Given the description of an element on the screen output the (x, y) to click on. 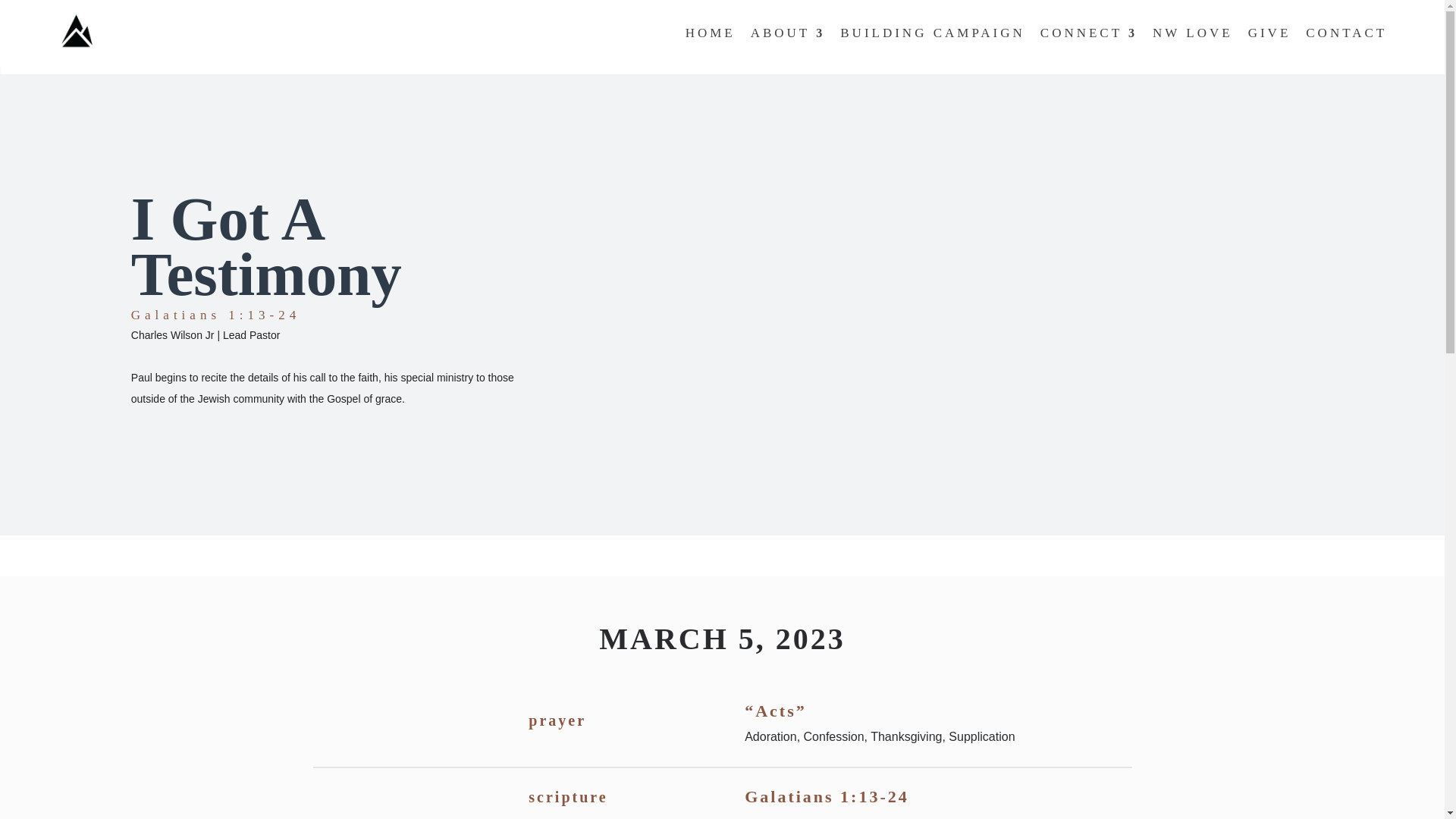
ABOUT (788, 36)
GIVE (1269, 36)
CONNECT (1089, 36)
BUILDING CAMPAIGN (932, 36)
CONTACT (1346, 36)
HOME (710, 36)
NW LOVE (1193, 36)
